Given the description of an element on the screen output the (x, y) to click on. 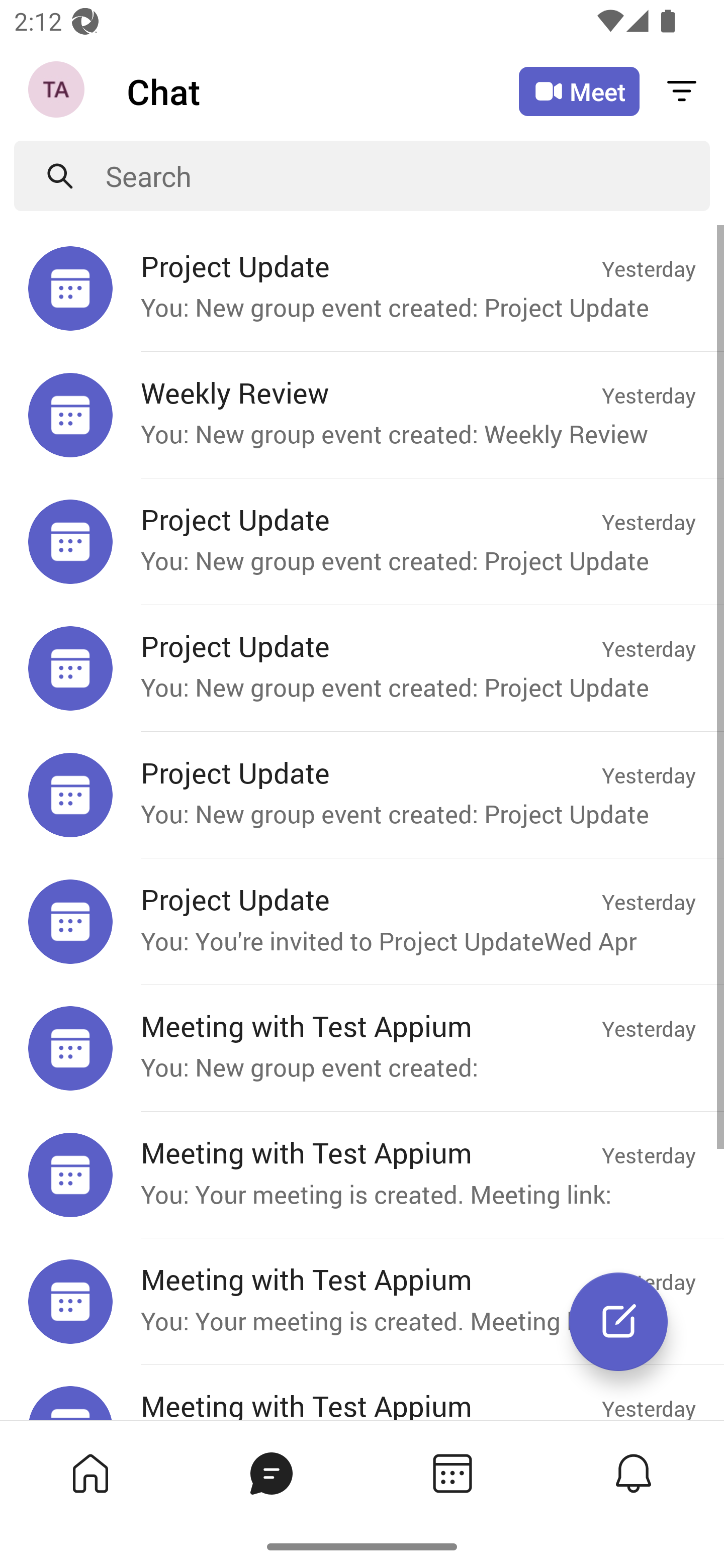
Filter chat messages (681, 90)
Navigation (58, 91)
Meet Meet now or join with an ID (579, 91)
Search (407, 176)
New chat (618, 1321)
Home tab,1 of 4, not selected (90, 1472)
Chat tab, 2 of 4 (271, 1472)
Calendar tab,3 of 4, not selected (452, 1472)
Activity tab,4 of 4, not selected (633, 1472)
